Given the description of an element on the screen output the (x, y) to click on. 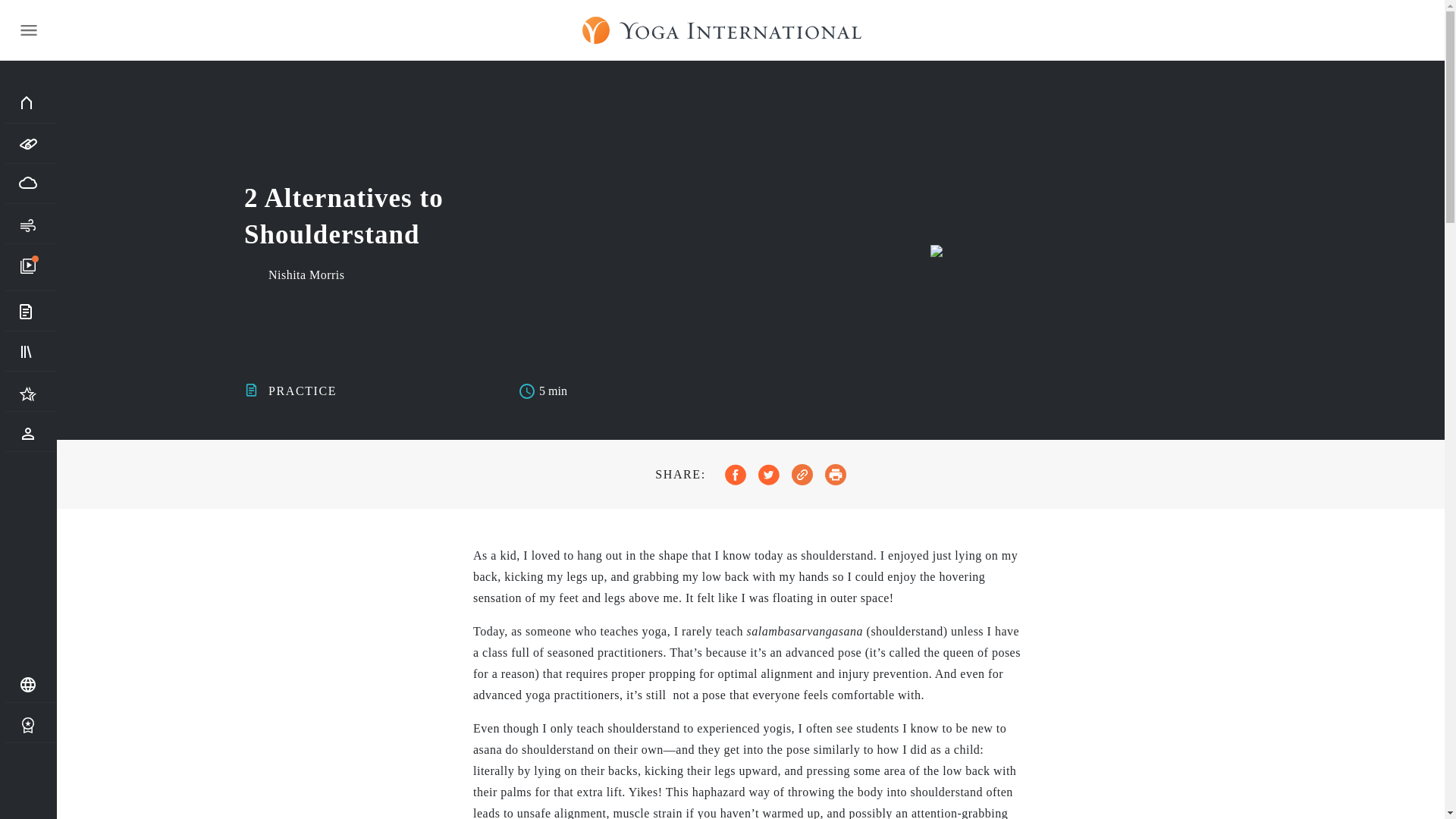
Nishita Morris (306, 274)
5 min (542, 391)
PRACTICE (301, 390)
